Given the description of an element on the screen output the (x, y) to click on. 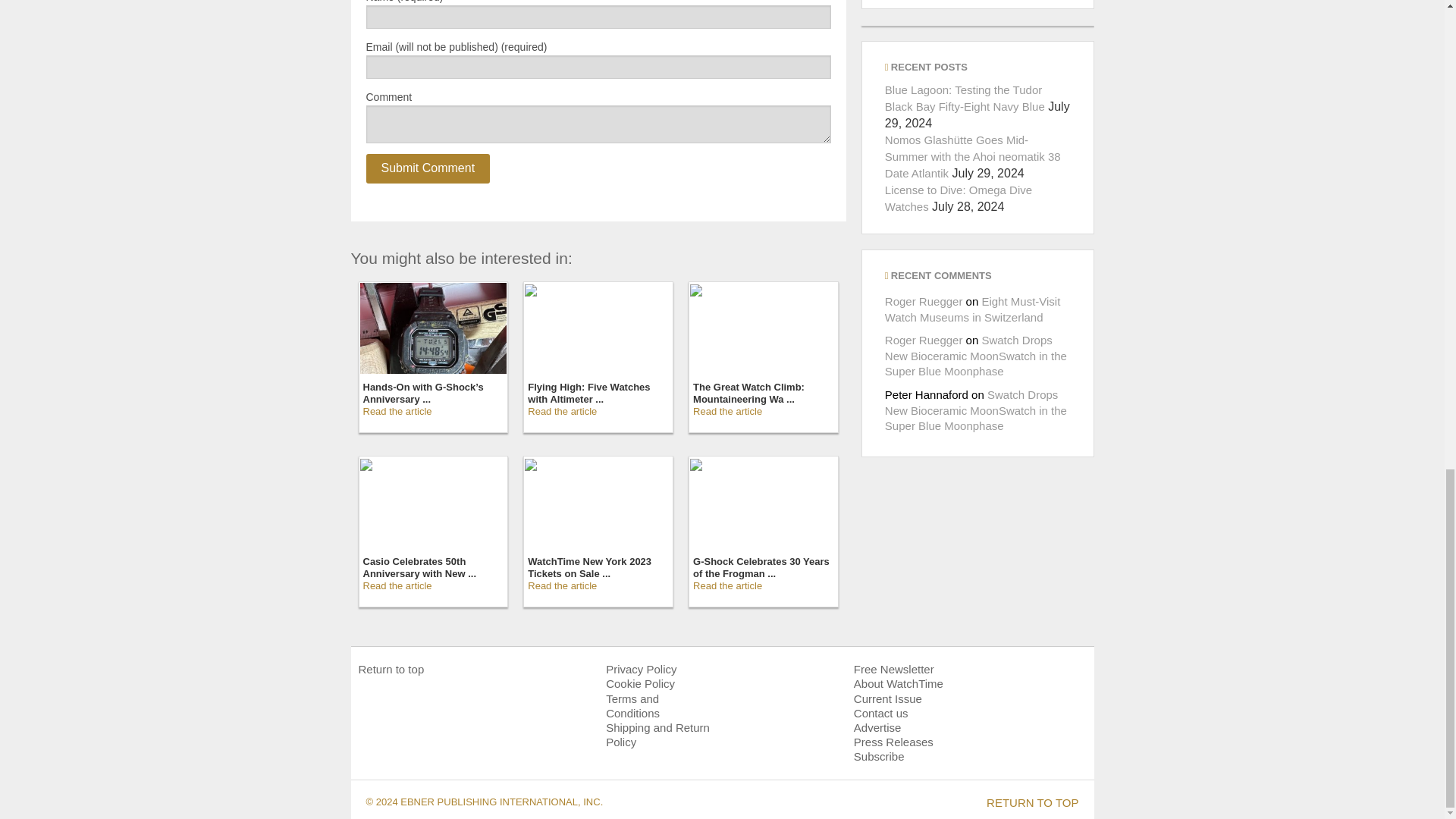
Submit Comment (427, 168)
